Given the description of an element on the screen output the (x, y) to click on. 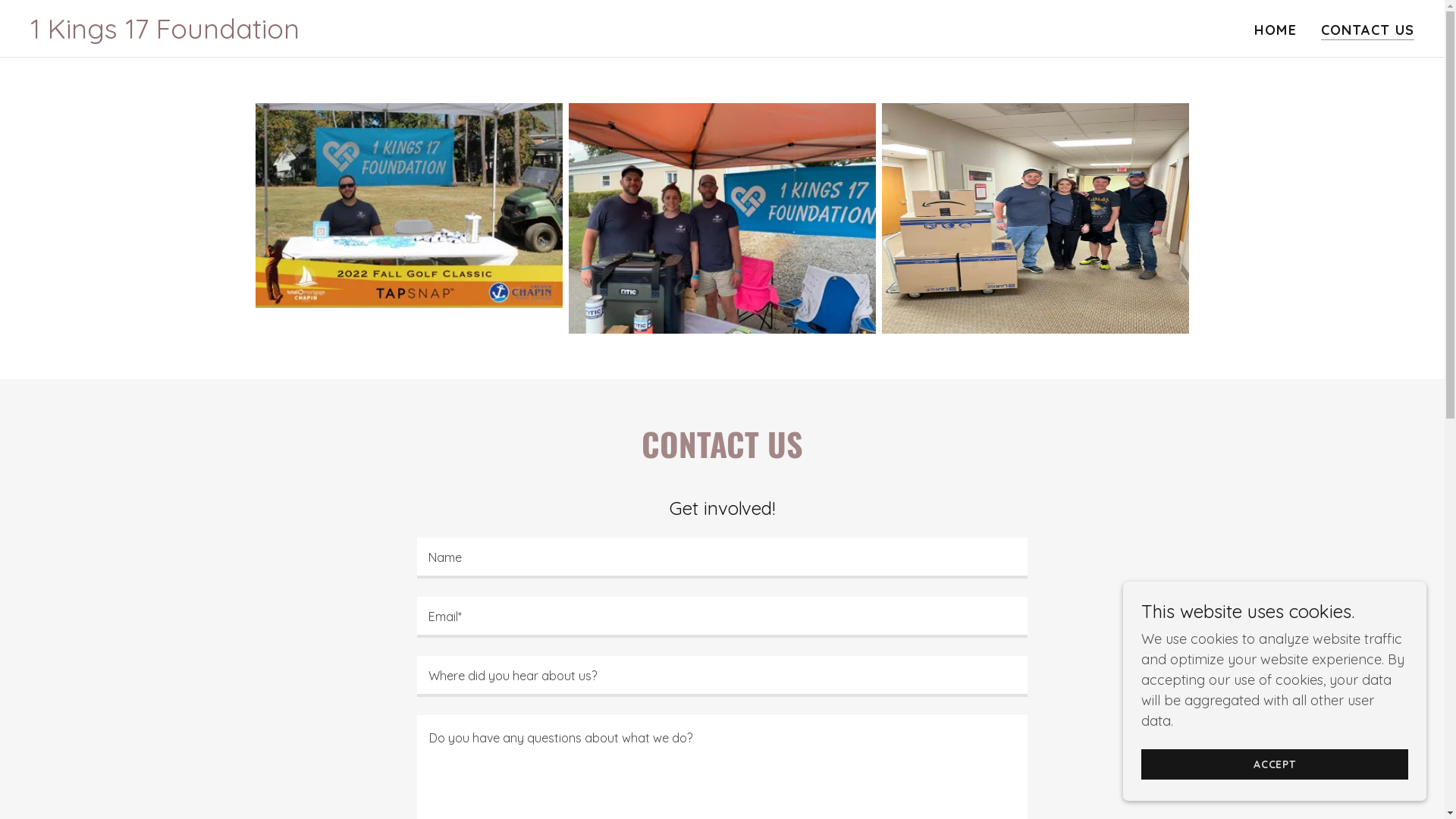
1 Kings 17 Foundation Element type: text (164, 33)
ACCEPT Element type: text (1274, 764)
CONTACT US Element type: text (1367, 30)
HOME Element type: text (1275, 29)
